Given the description of an element on the screen output the (x, y) to click on. 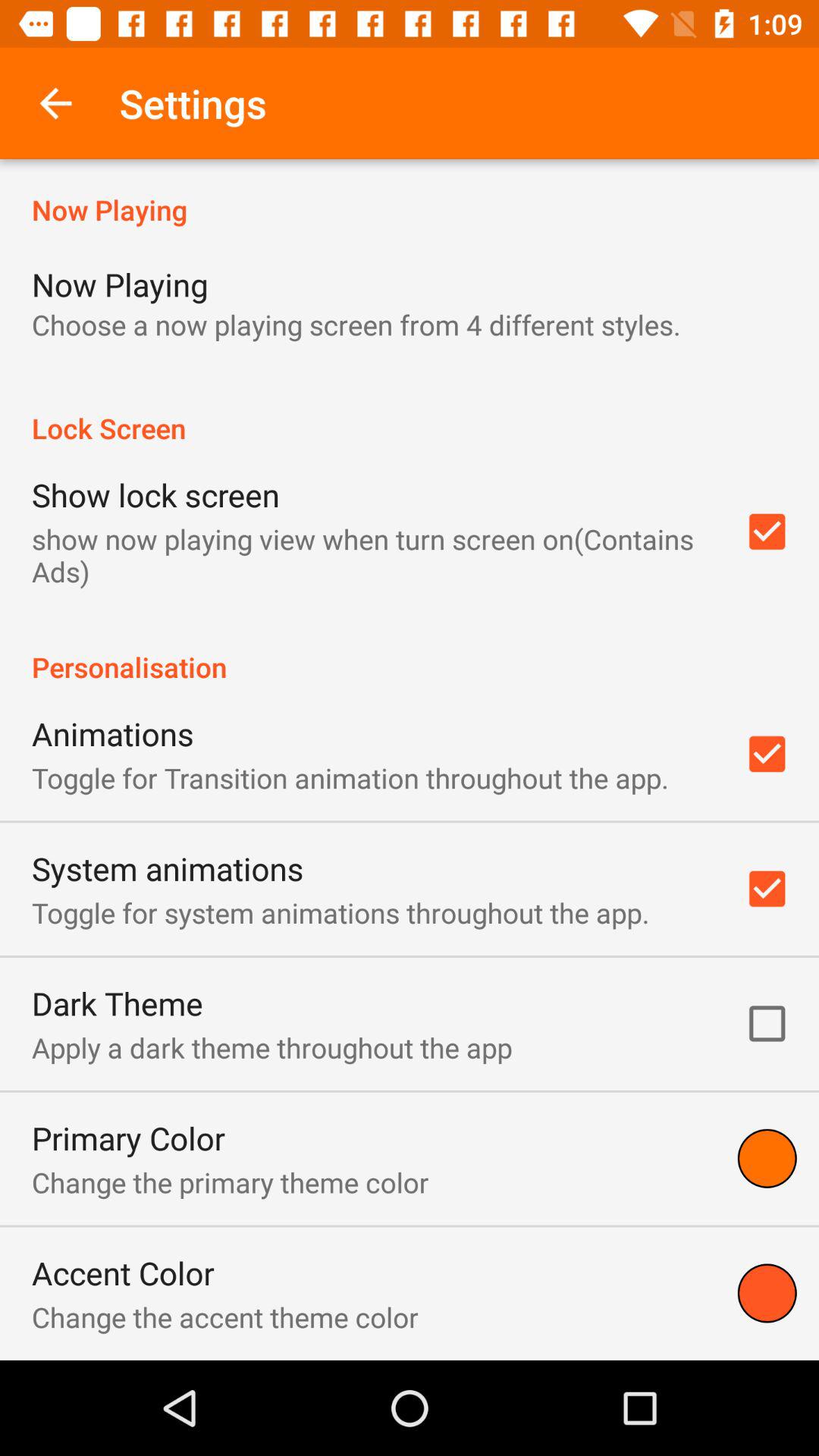
open the apply a dark (271, 1047)
